Given the description of an element on the screen output the (x, y) to click on. 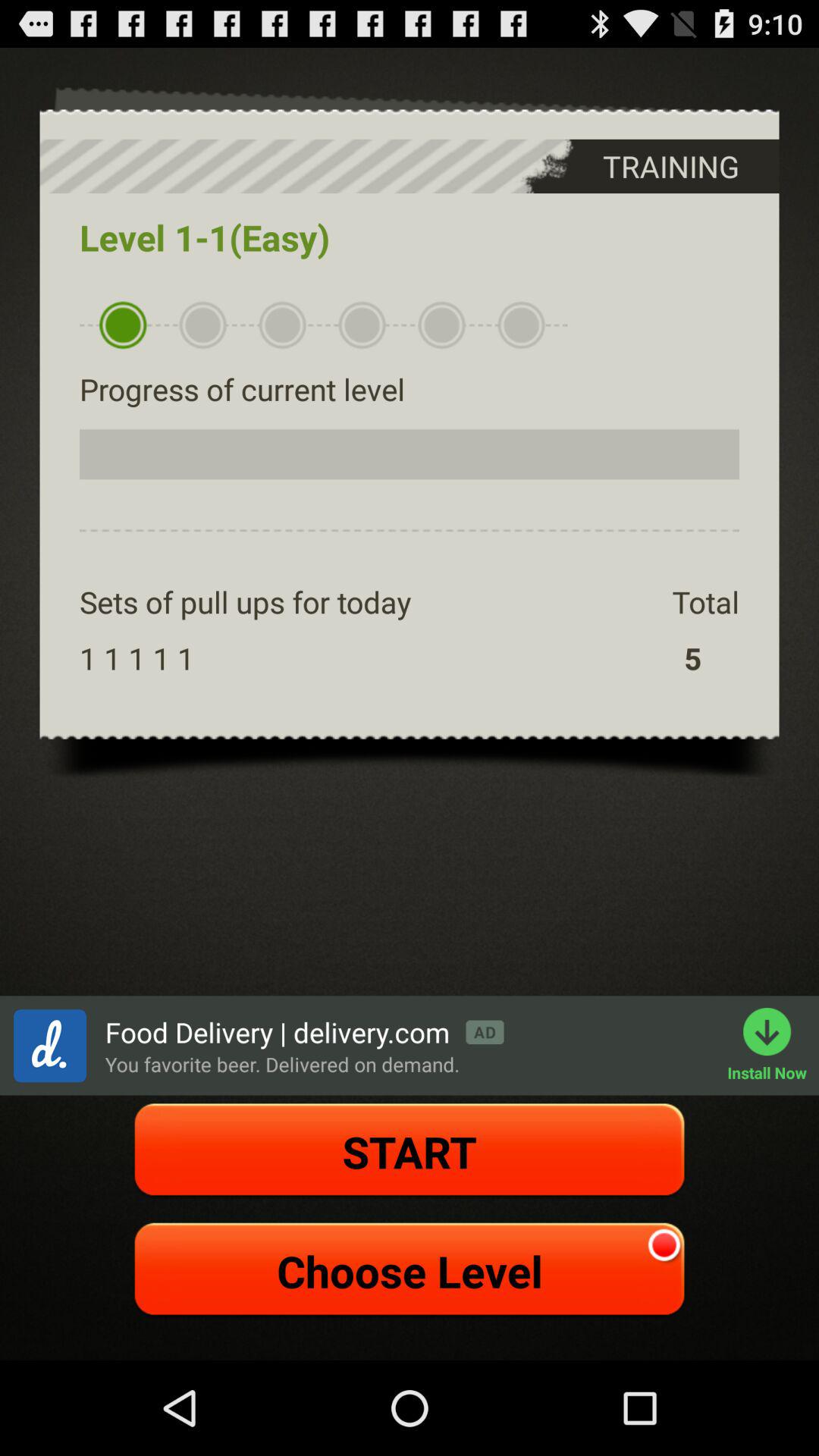
click on the third button from left under level 11easy (282, 325)
click on the fourth button from left under level 11easy (361, 325)
click on choose level (409, 1270)
